Given the description of an element on the screen output the (x, y) to click on. 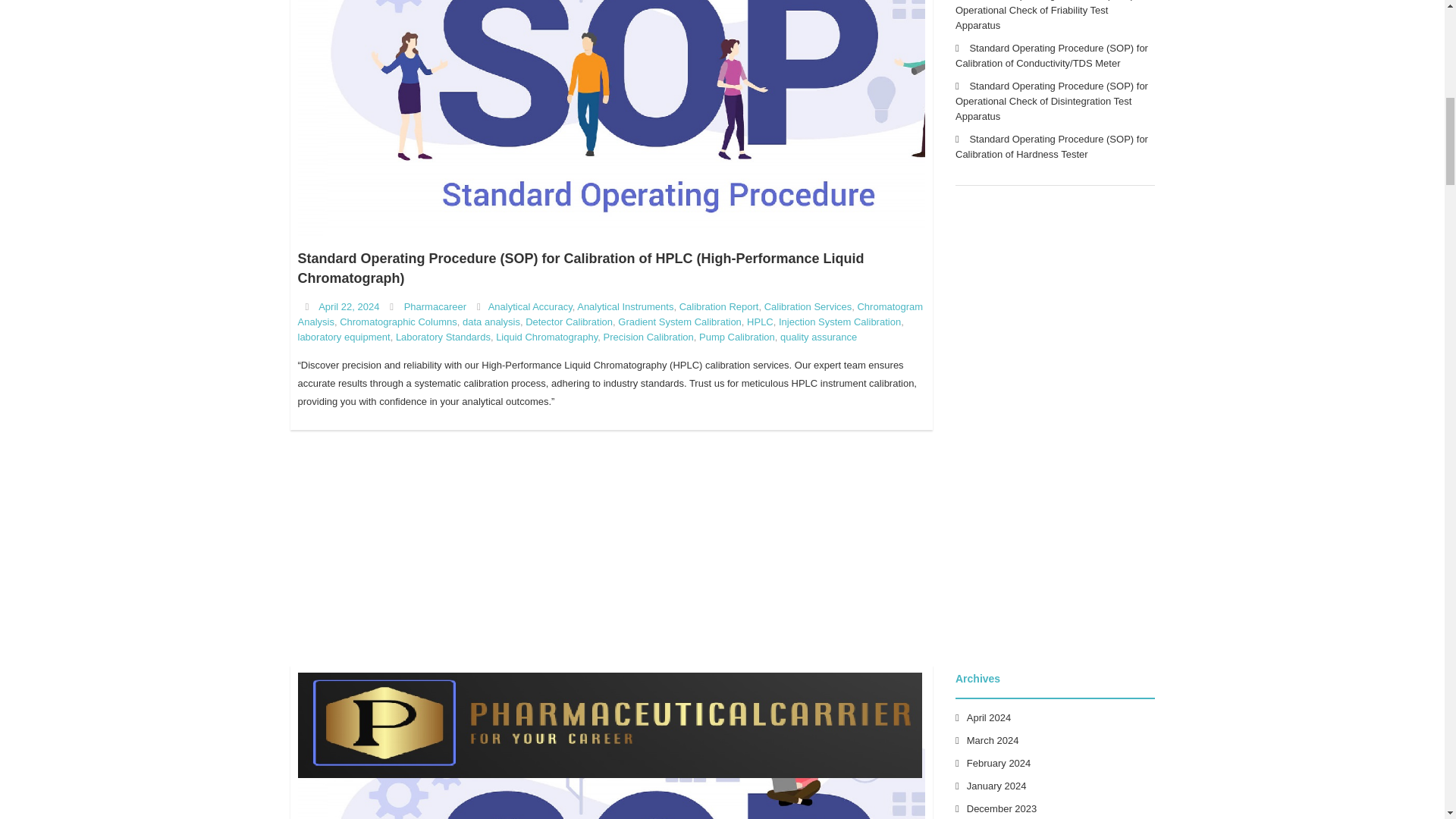
data analysis (491, 321)
View all posts by Pharmacareer (434, 306)
Calibration Report (718, 306)
Analytical Accuracy (529, 306)
Analytical Instruments (624, 306)
April 22, 2024 (348, 306)
Calibration Services (807, 306)
Detector Calibration (568, 321)
Chromatogram Analysis (610, 314)
Pharmacareer (434, 306)
Chromatographic Columns (398, 321)
6:27 pm (348, 306)
